Given the description of an element on the screen output the (x, y) to click on. 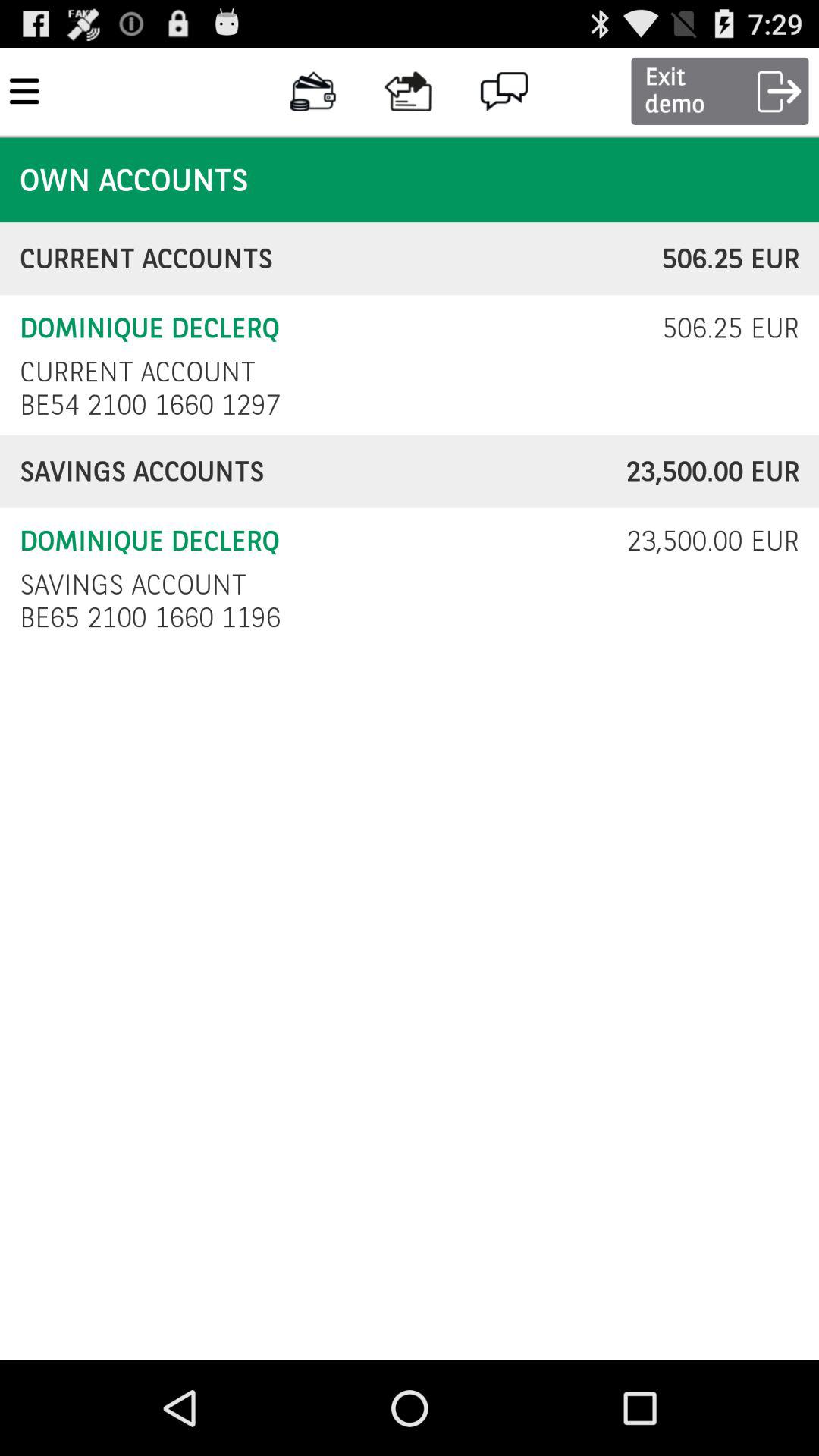
press the savings accounts icon (322, 471)
